Given the description of an element on the screen output the (x, y) to click on. 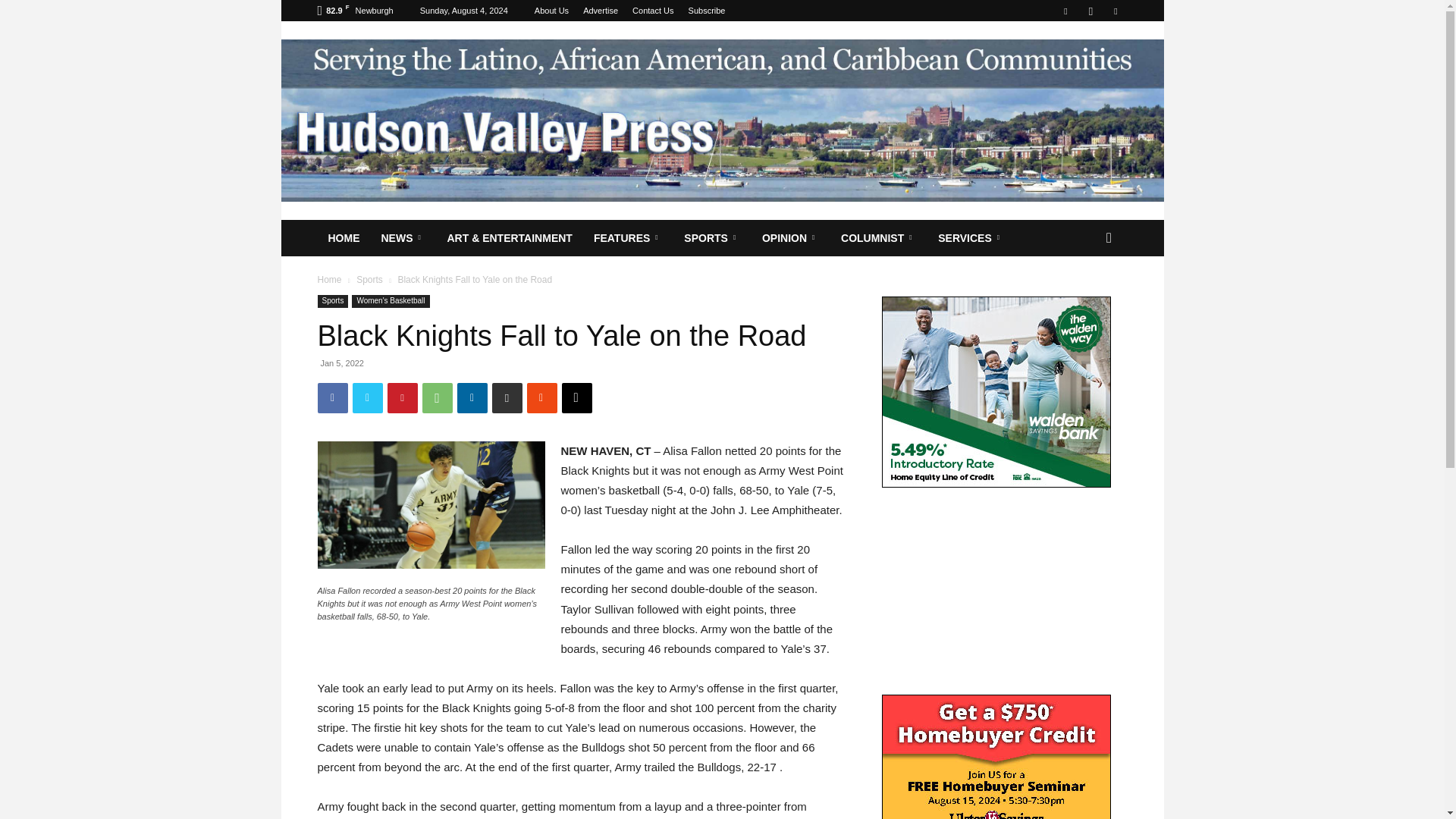
Mix (540, 398)
View all posts in Sports (369, 279)
Twitter (366, 398)
Pinterest (401, 398)
Facebook (332, 398)
Print (506, 398)
WhatsApp (436, 398)
Twitter (1114, 10)
Instagram (1090, 10)
Facebook (1065, 10)
Linkedin (471, 398)
